Given the description of an element on the screen output the (x, y) to click on. 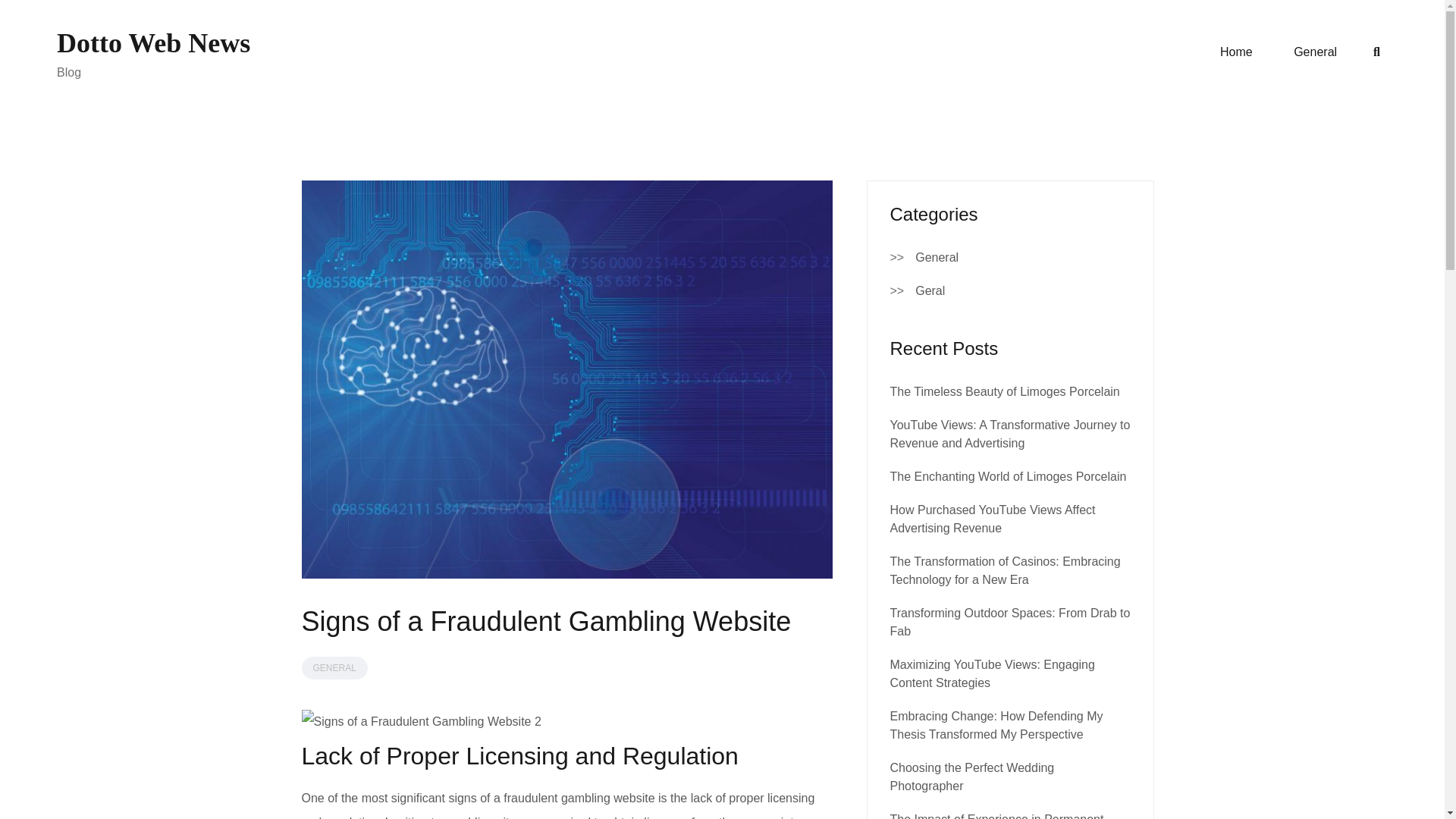
General (936, 257)
Transforming Outdoor Spaces: From Drab to Fab (1010, 622)
Dotto Web News (153, 42)
Geral (929, 290)
General (1315, 52)
Maximizing YouTube Views: Engaging Content Strategies (991, 673)
Home (1236, 52)
The Impact of Experience in Permanent Makeup (996, 816)
Choosing the Perfect Wedding Photographer (971, 776)
How Purchased YouTube Views Affect Advertising Revenue (992, 518)
The Enchanting World of Limoges Porcelain (1007, 476)
GENERAL (334, 667)
